Given the description of an element on the screen output the (x, y) to click on. 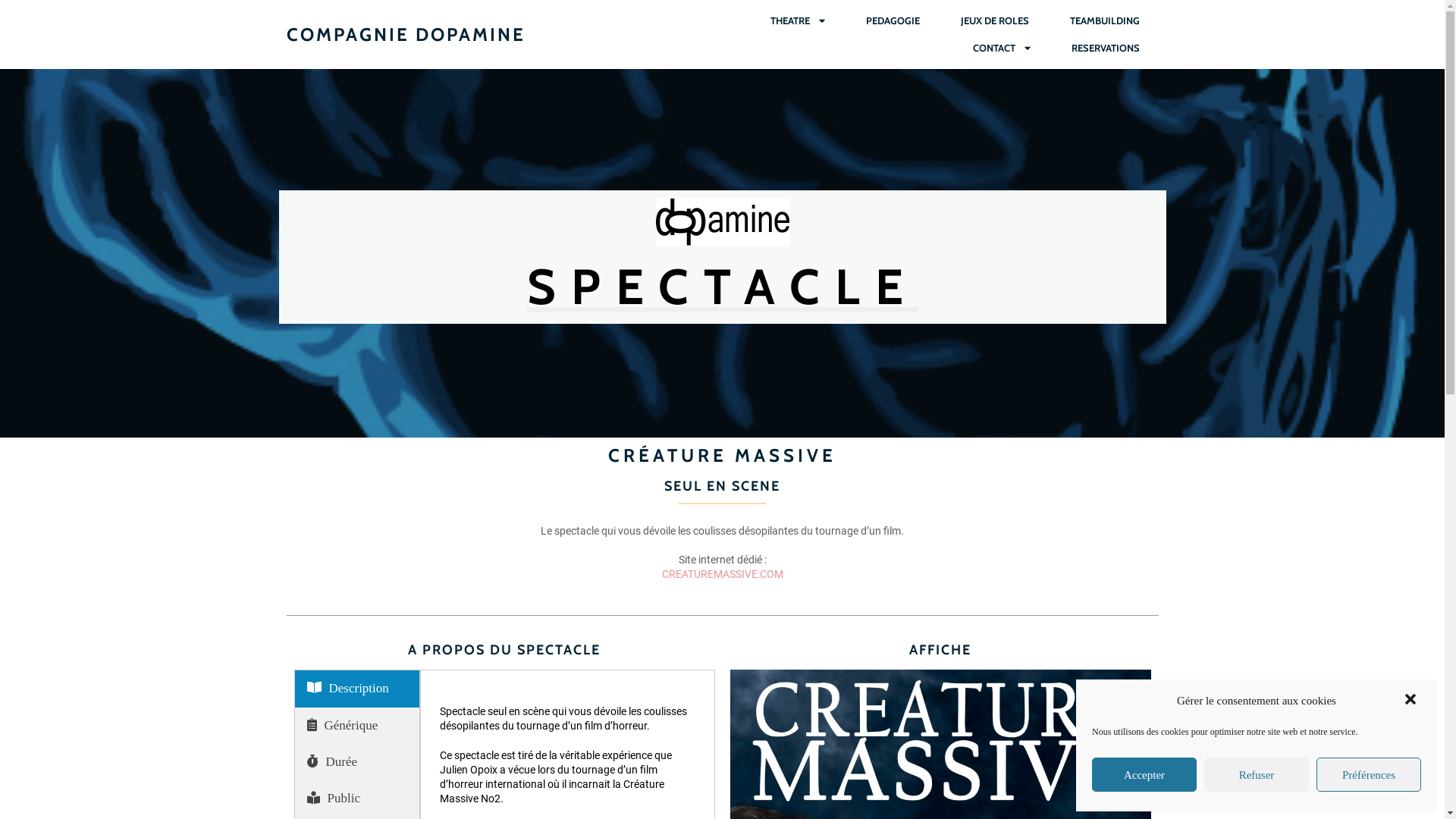
JEUX DE ROLES Element type: text (994, 20)
Accepter Element type: text (1144, 774)
THEATRE Element type: text (796, 20)
Refuser Element type: text (1256, 774)
CREATUREMASSIVE:COM Element type: text (721, 573)
COMPAGNIE DOPAMINE Element type: text (500, 34)
CONTACT Element type: text (1001, 48)
TEAMBUILDING Element type: text (1104, 20)
RESERVATIONS Element type: text (1105, 48)
PEDAGOGIE Element type: text (892, 20)
dopamine Element type: hover (721, 221)
Description Element type: text (356, 688)
Public Element type: text (356, 798)
